Given the description of an element on the screen output the (x, y) to click on. 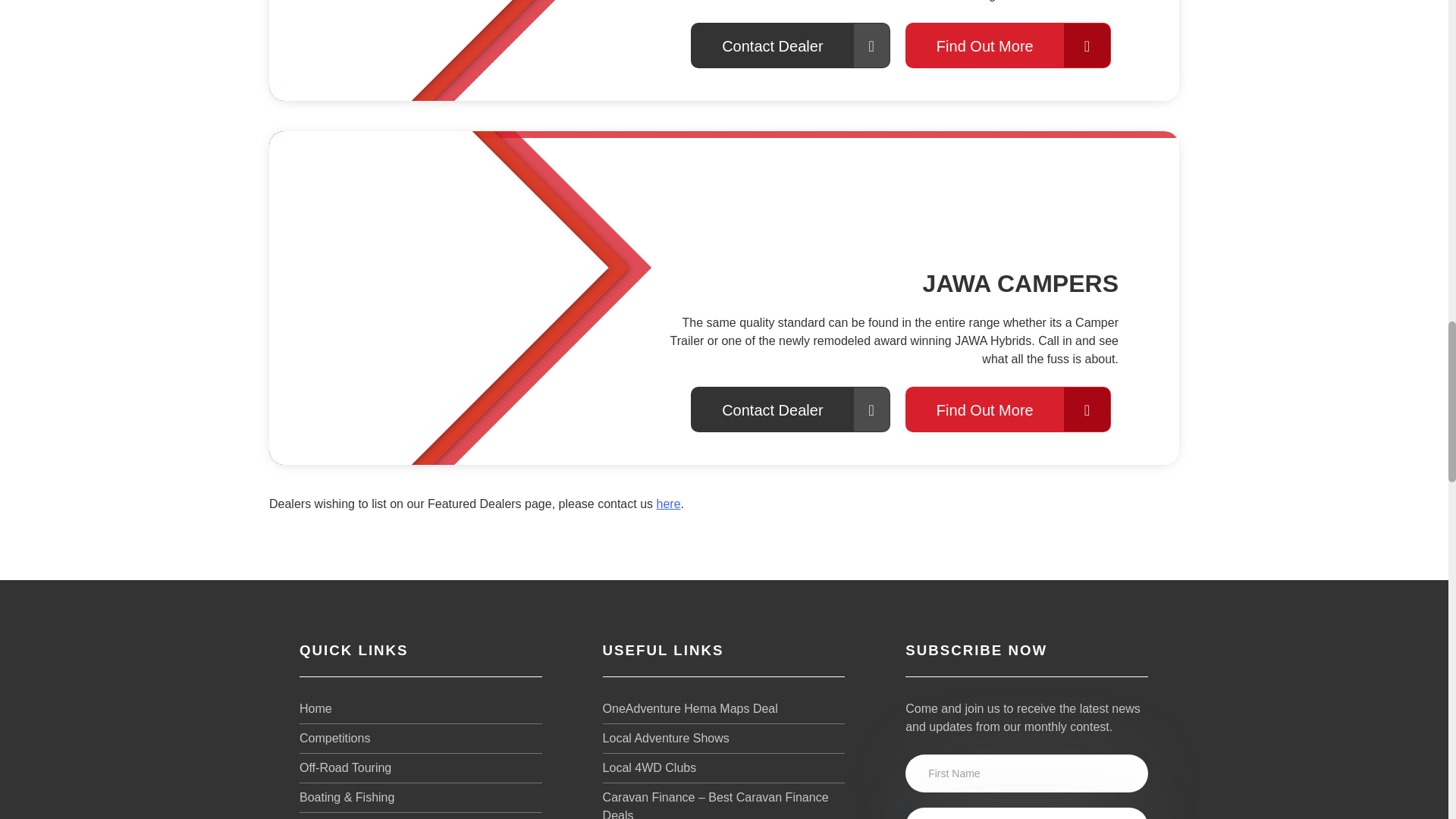
Contact Dealer (789, 44)
Find Out More (1007, 44)
here (668, 503)
Competitions (420, 738)
Home (420, 711)
Find Out More (1007, 409)
Off-Road Touring (420, 767)
Contact Dealer (789, 409)
